Given the description of an element on the screen output the (x, y) to click on. 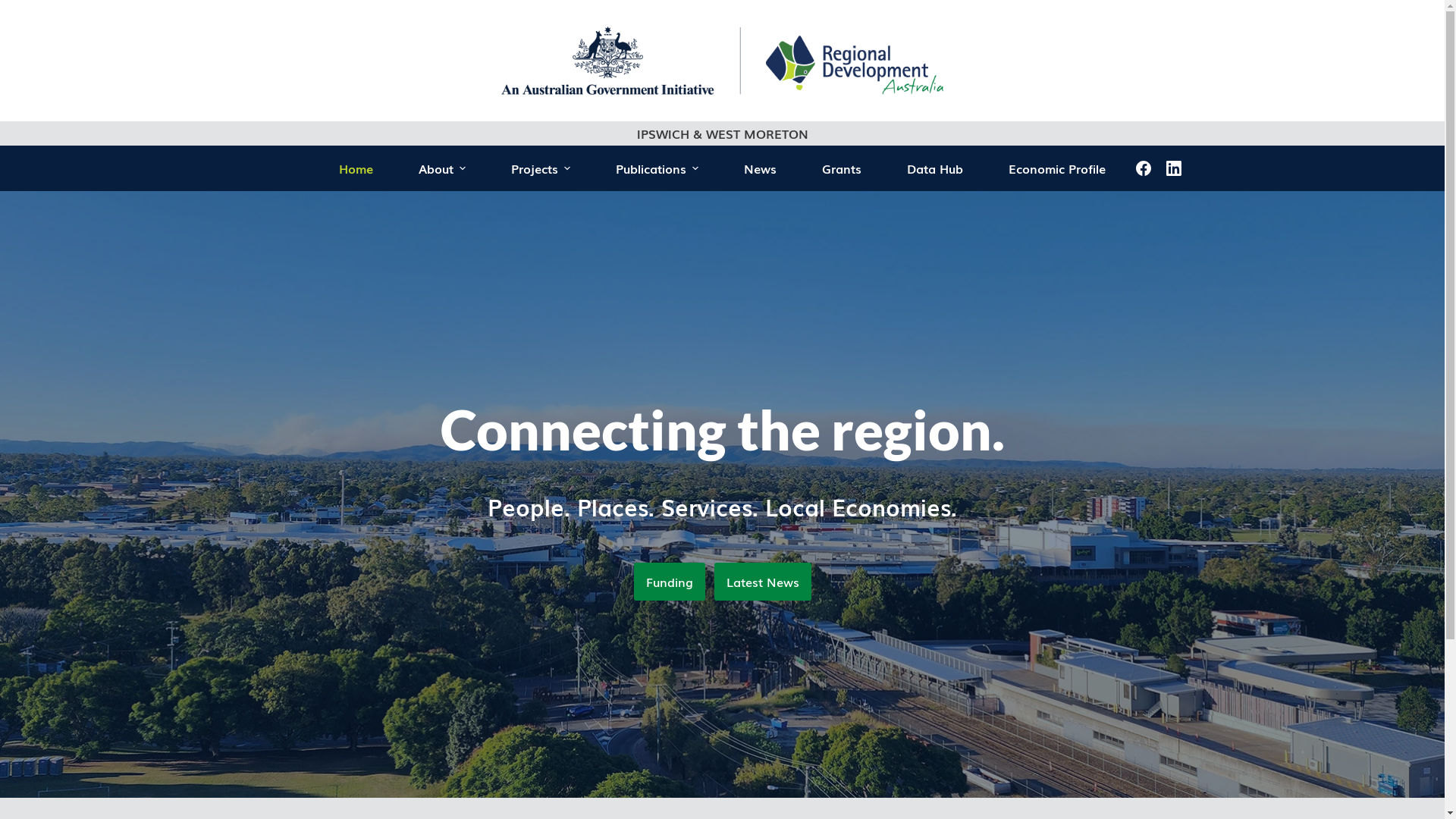
Data Hub Element type: text (934, 168)
Publications Element type: text (657, 168)
Latest News Element type: text (762, 581)
Funding Element type: text (669, 581)
Economic Profile Element type: text (1056, 168)
About Element type: text (441, 168)
Projects Element type: text (540, 168)
Grants Element type: text (841, 168)
Home Element type: text (355, 168)
News Element type: text (760, 168)
Skip to content Element type: text (15, 7)
